Given the description of an element on the screen output the (x, y) to click on. 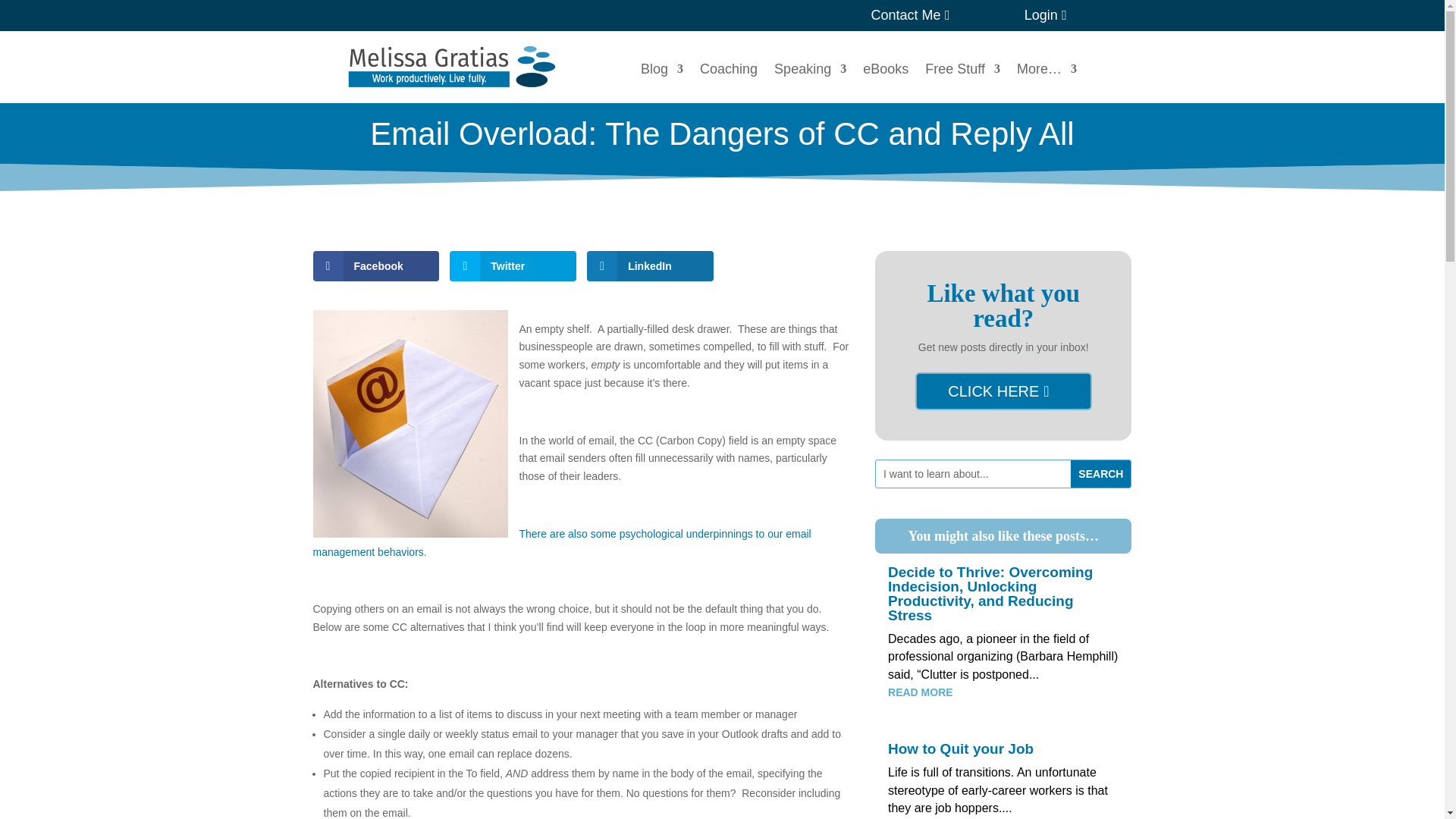
Coaching (728, 71)
Free Stuff (962, 71)
Blog (661, 71)
Search (1100, 473)
Contact Me (914, 15)
Search (1100, 473)
Speaking (809, 71)
eBooks (885, 71)
Login (1049, 15)
